Given the description of an element on the screen output the (x, y) to click on. 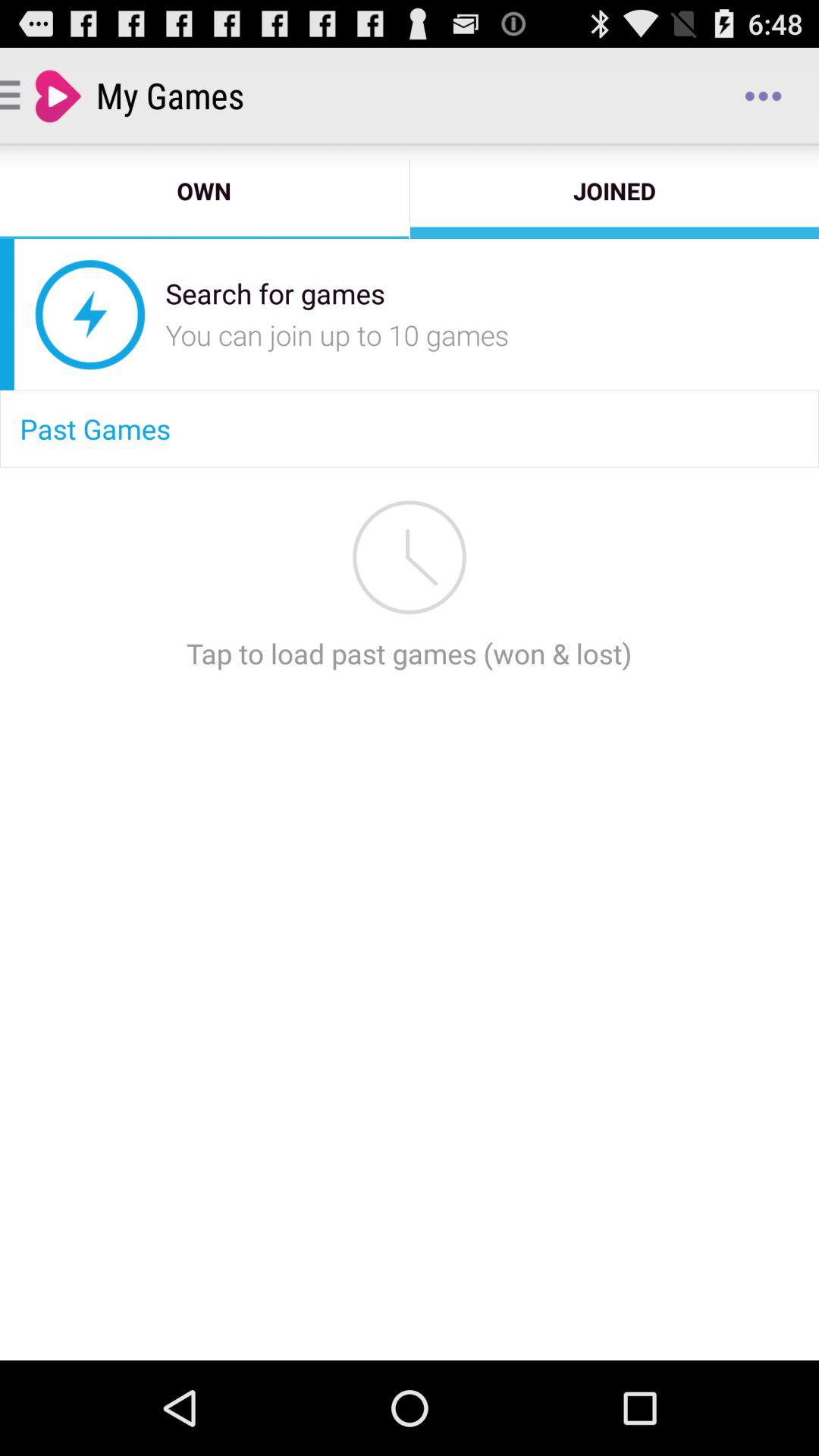
select the item next to the my games icon (763, 95)
